Given the description of an element on the screen output the (x, y) to click on. 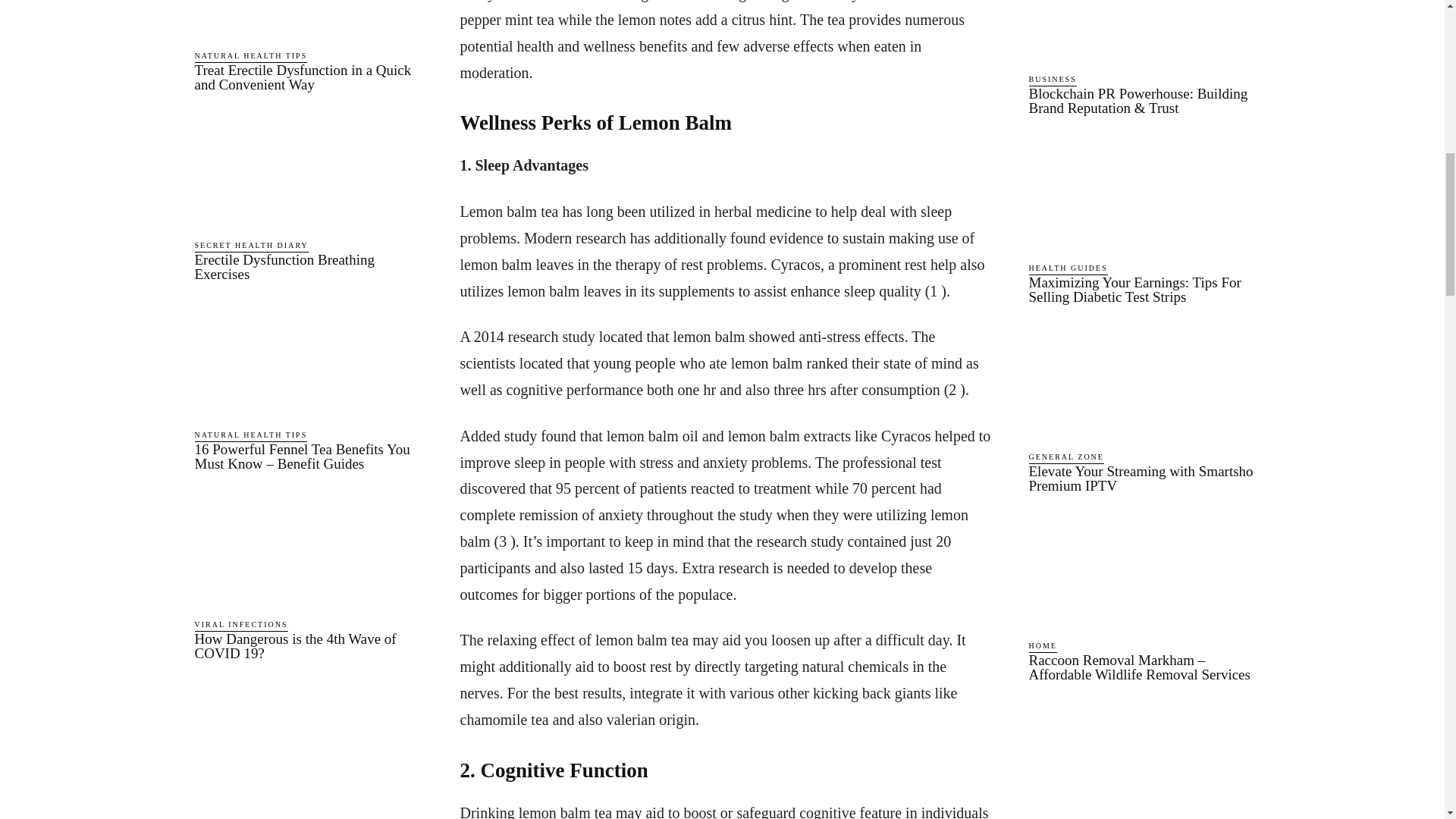
Treat Erectile Dysfunction in a Quick and Convenient Way (308, 20)
